Given the description of an element on the screen output the (x, y) to click on. 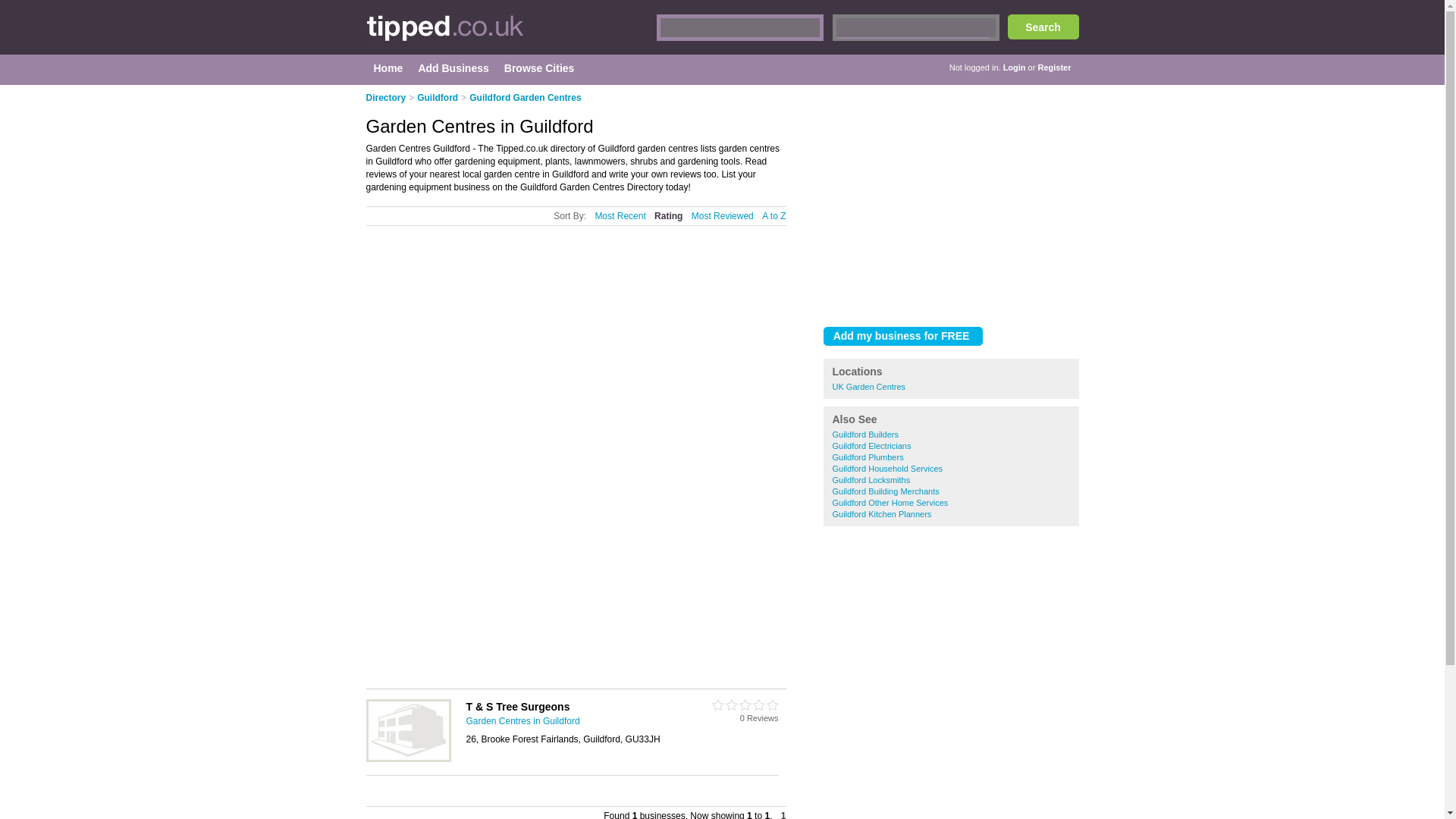
Guildford Kitchen Planners (881, 513)
Guildford (437, 97)
Guildford Garden Centres (524, 97)
Guildford Locksmiths (871, 479)
Browse Cities (538, 68)
Add my business for FREE (903, 335)
Search (1042, 26)
Guildford Builders (865, 433)
Home (388, 68)
Guildford Electricians (871, 445)
Guildford Building Merchants (885, 491)
Add my business for FREE (903, 335)
UK Garden Centres (868, 386)
Add Business (452, 68)
Most Recent (619, 215)
